Given the description of an element on the screen output the (x, y) to click on. 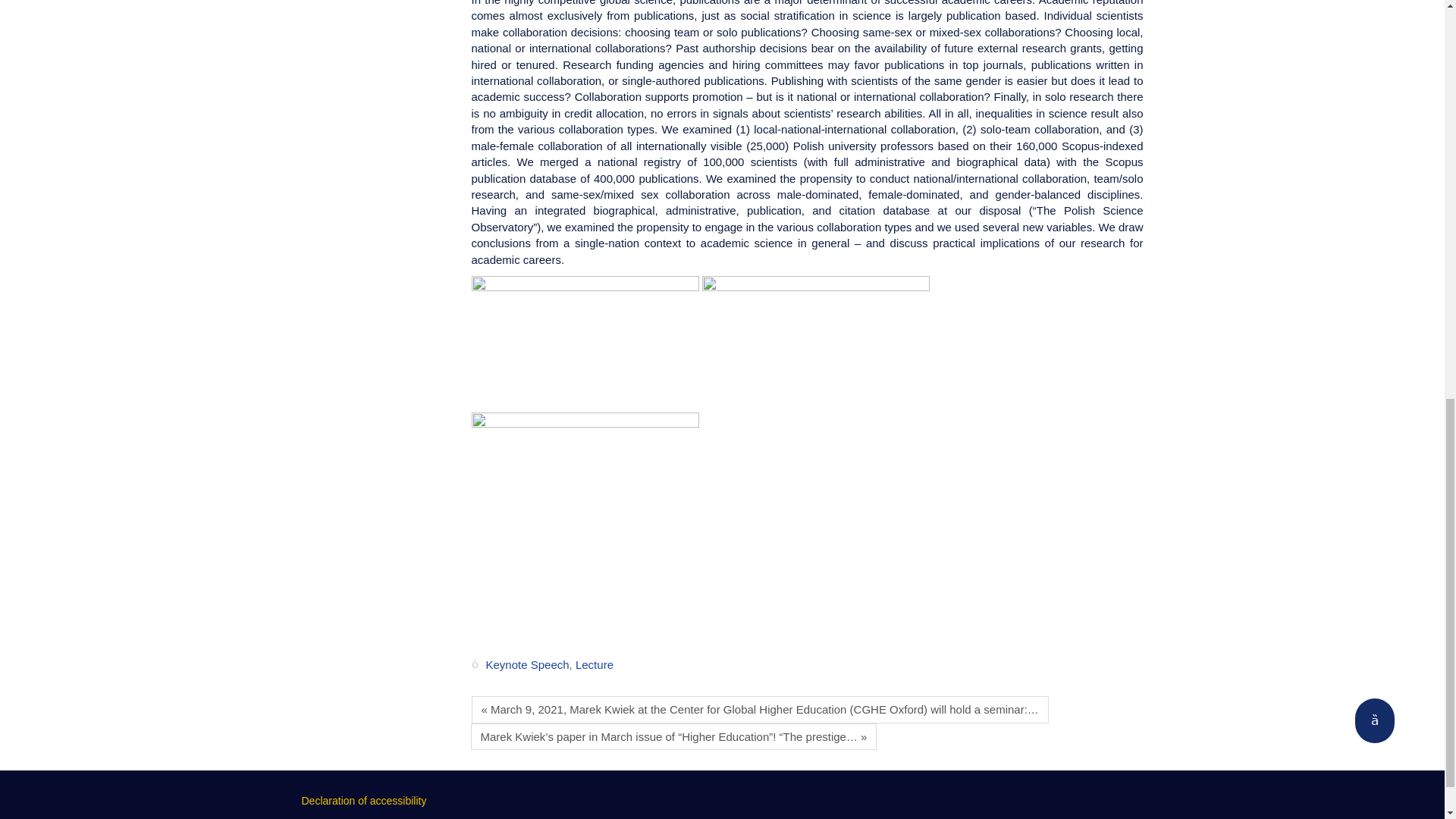
Keynote Speech (526, 664)
Declaration of accessibility (363, 800)
Lecture (593, 664)
